Given the description of an element on the screen output the (x, y) to click on. 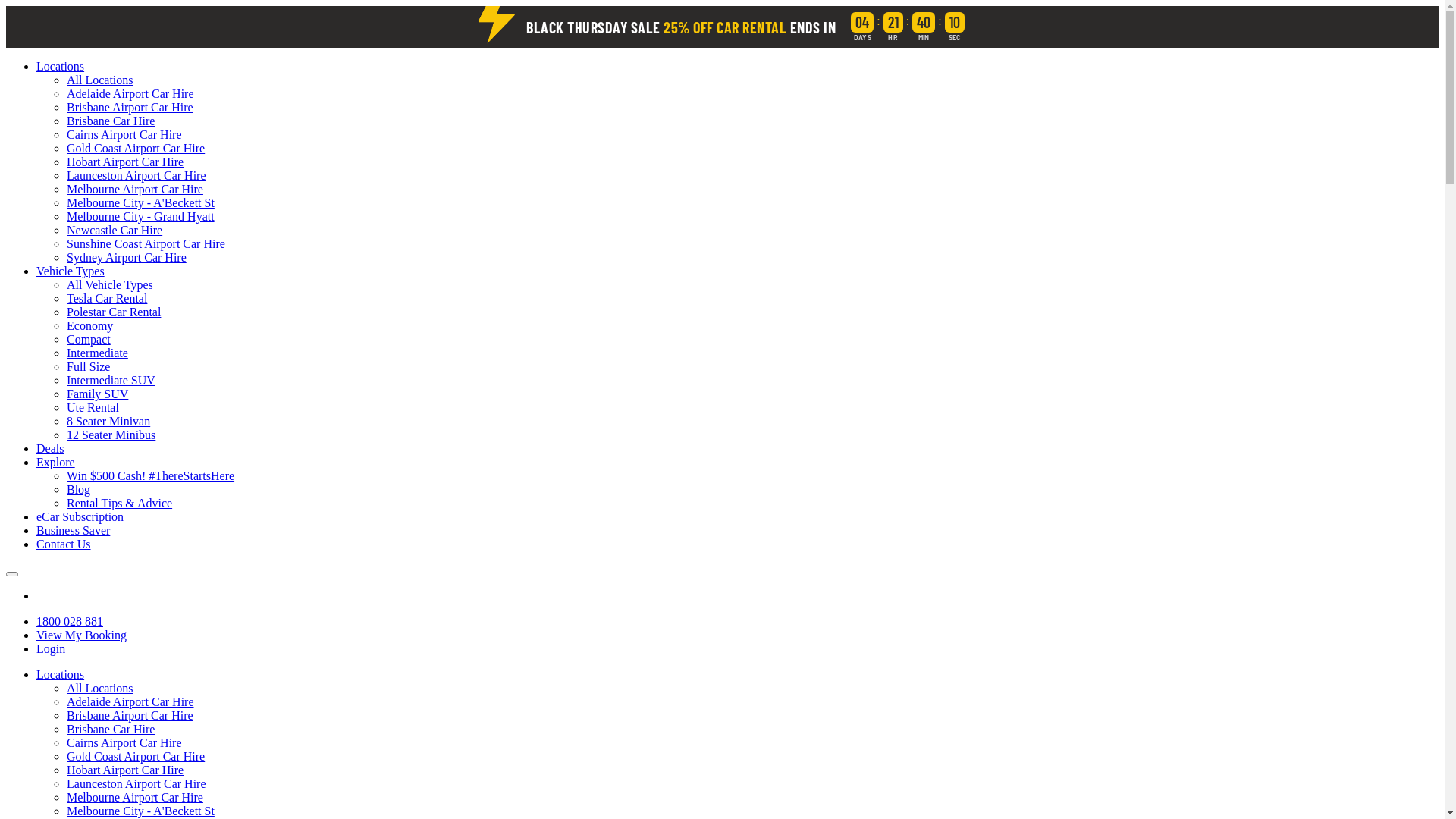
Cairns Airport Car Hire Element type: text (124, 742)
Explore Element type: text (55, 461)
Gold Coast Airport Car Hire Element type: text (135, 147)
Launceston Airport Car Hire Element type: text (136, 783)
Launceston Airport Car Hire Element type: text (136, 175)
Brisbane Airport Car Hire Element type: text (129, 715)
Hobart Airport Car Hire Element type: text (124, 161)
Full Size Element type: text (87, 366)
Sydney Airport Car Hire Element type: text (126, 257)
All Locations Element type: text (99, 687)
Compact Element type: text (88, 338)
Blog Element type: text (78, 489)
Brisbane Car Hire Element type: text (110, 120)
Brisbane Airport Car Hire Element type: text (129, 106)
Intermediate Element type: text (97, 352)
Login Element type: text (50, 648)
eCar Subscription Element type: text (79, 516)
Deals Element type: text (49, 448)
Family SUV Element type: text (97, 393)
8 Seater Minivan Element type: text (108, 420)
All Vehicle Types Element type: text (109, 284)
Adelaide Airport Car Hire Element type: text (130, 93)
Ute Rental Element type: text (92, 407)
Melbourne City - Grand Hyatt Element type: text (140, 216)
Adelaide Airport Car Hire Element type: text (130, 701)
1800 028 881 Element type: text (69, 621)
12 Seater Minibus Element type: text (110, 434)
Rental Tips & Advice Element type: text (119, 502)
Tesla Car Rental Element type: text (106, 297)
View My Booking Element type: text (81, 634)
Gold Coast Airport Car Hire Element type: text (135, 755)
Brisbane Car Hire Element type: text (110, 728)
Melbourne Airport Car Hire Element type: text (134, 188)
Melbourne Airport Car Hire Element type: text (134, 796)
Locations Element type: text (60, 65)
Locations Element type: text (60, 674)
Newcastle Car Hire Element type: text (114, 229)
Melbourne City - A'Beckett St Element type: text (140, 202)
Contact Us Element type: text (63, 543)
Win $500 Cash! #ThereStartsHere Element type: text (150, 475)
Melbourne City - A'Beckett St Element type: text (140, 810)
Polestar Car Rental Element type: text (113, 311)
Intermediate SUV Element type: text (110, 379)
Economy Element type: text (89, 325)
Hobart Airport Car Hire Element type: text (124, 769)
Sunshine Coast Airport Car Hire Element type: text (145, 243)
Business Saver Element type: text (72, 530)
Vehicle Types Element type: text (70, 270)
All Locations Element type: text (99, 79)
Cairns Airport Car Hire Element type: text (124, 134)
